Given the description of an element on the screen output the (x, y) to click on. 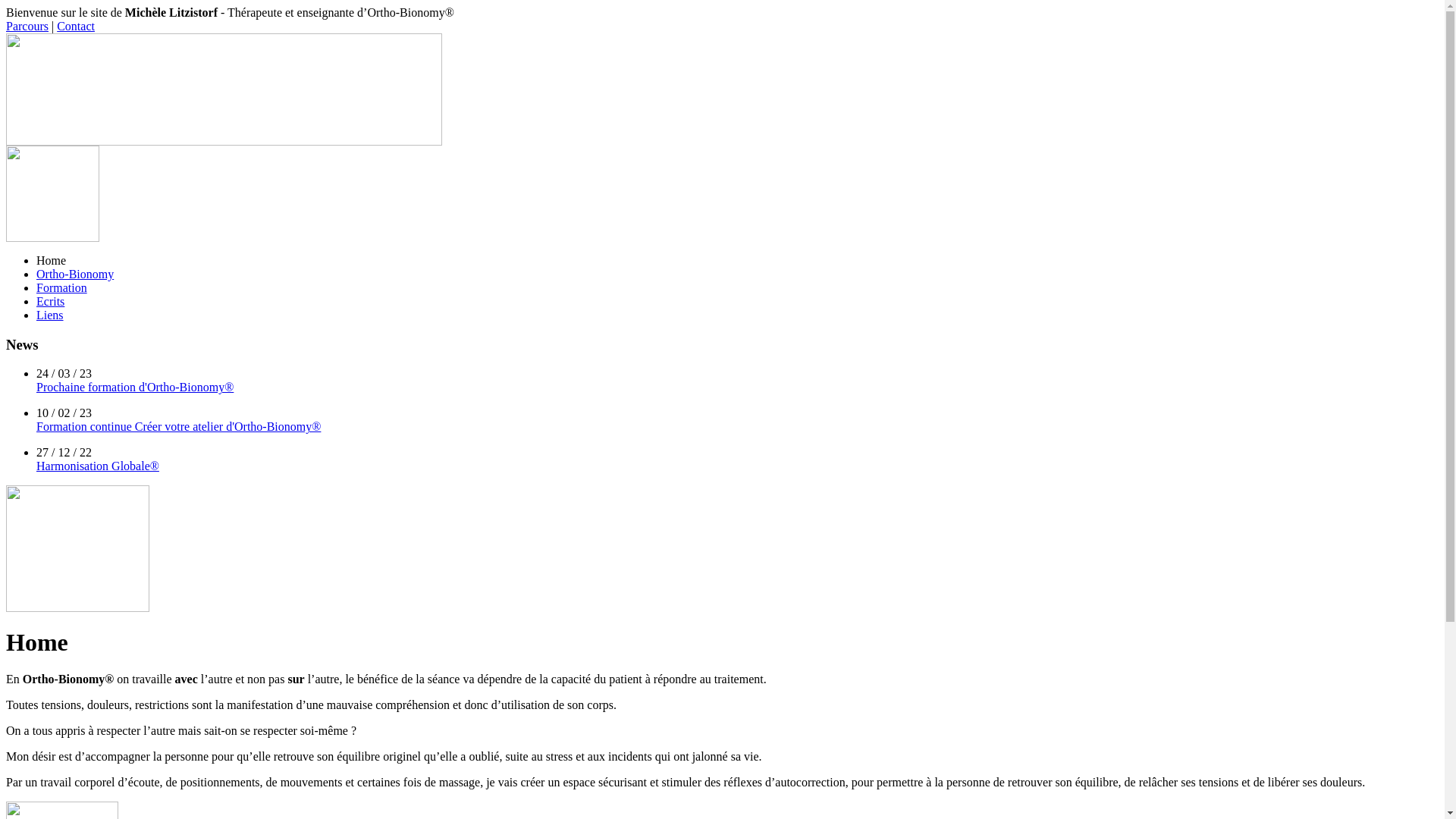
Ecrits Element type: text (50, 300)
Contact Element type: text (75, 25)
Parcours Element type: text (27, 25)
Ortho-Bionomy Element type: text (74, 273)
Formation Element type: text (61, 287)
Liens Element type: text (49, 314)
